Given the description of an element on the screen output the (x, y) to click on. 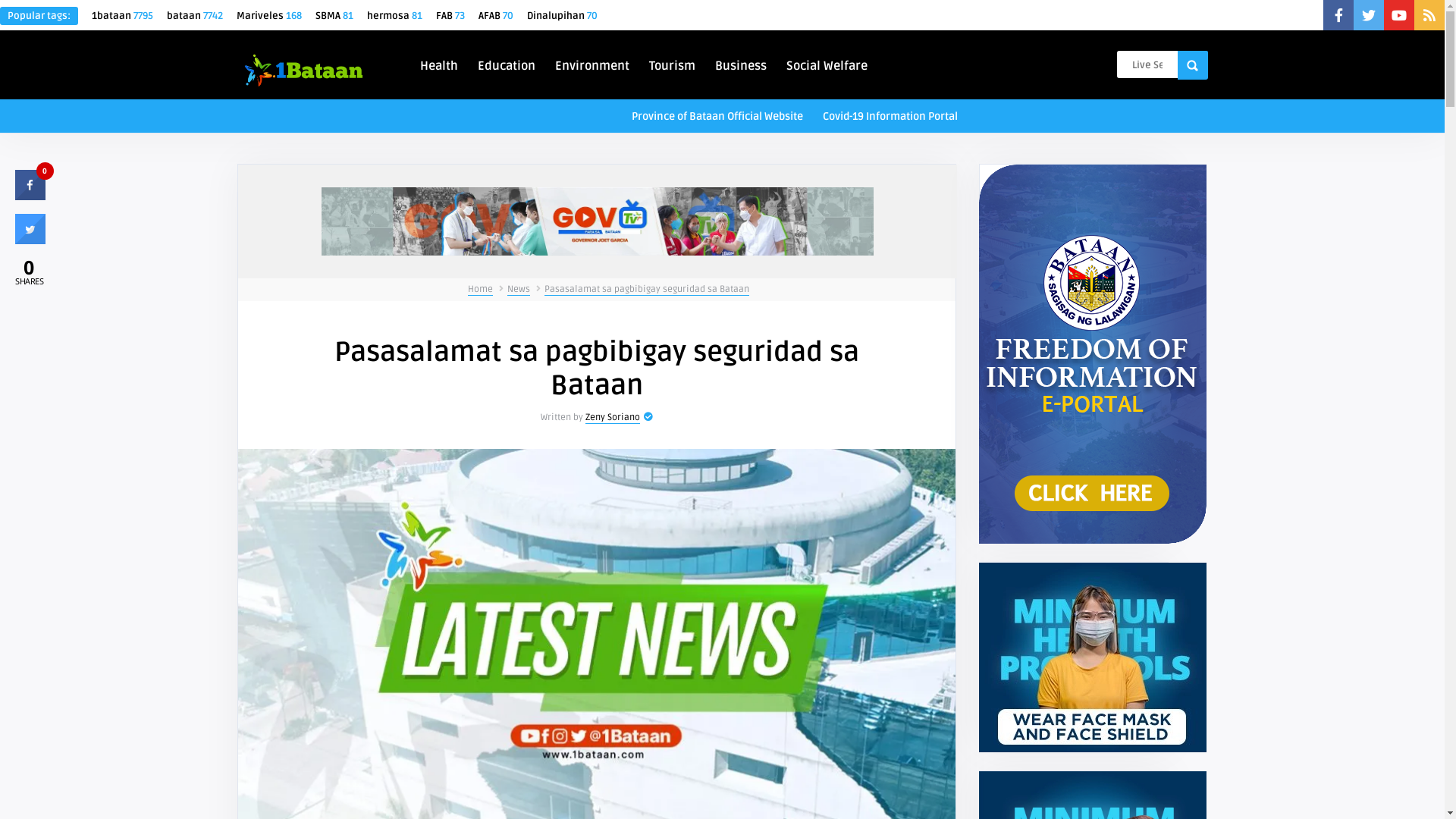
Tourism Element type: text (672, 64)
hermosa 81 Element type: text (394, 15)
AFAB 70 Element type: text (495, 15)
1bataan 7795 Element type: text (122, 15)
FAB 73 Element type: text (450, 15)
SBMA 81 Element type: text (334, 15)
Dinalupihan 70 Element type: text (562, 15)
Search Element type: text (1191, 64)
Mariveles 168 Element type: text (268, 15)
News Element type: text (518, 289)
Home Element type: text (479, 289)
Environment Element type: text (592, 64)
Province of Bataan Official Website Element type: text (717, 115)
Covid-19 Information Portal Element type: text (889, 115)
Education Element type: text (506, 64)
bataan 7742 Element type: text (194, 15)
Social Welfare Element type: text (826, 64)
Share on Facebook Element type: hover (30, 195)
Zeny Soriano Element type: text (612, 417)
Business Element type: text (740, 64)
Health Element type: text (439, 64)
Share on Twitter Element type: hover (30, 239)
Pasasalamat sa pagbibigay seguridad sa Bataan Element type: text (646, 289)
